Given the description of an element on the screen output the (x, y) to click on. 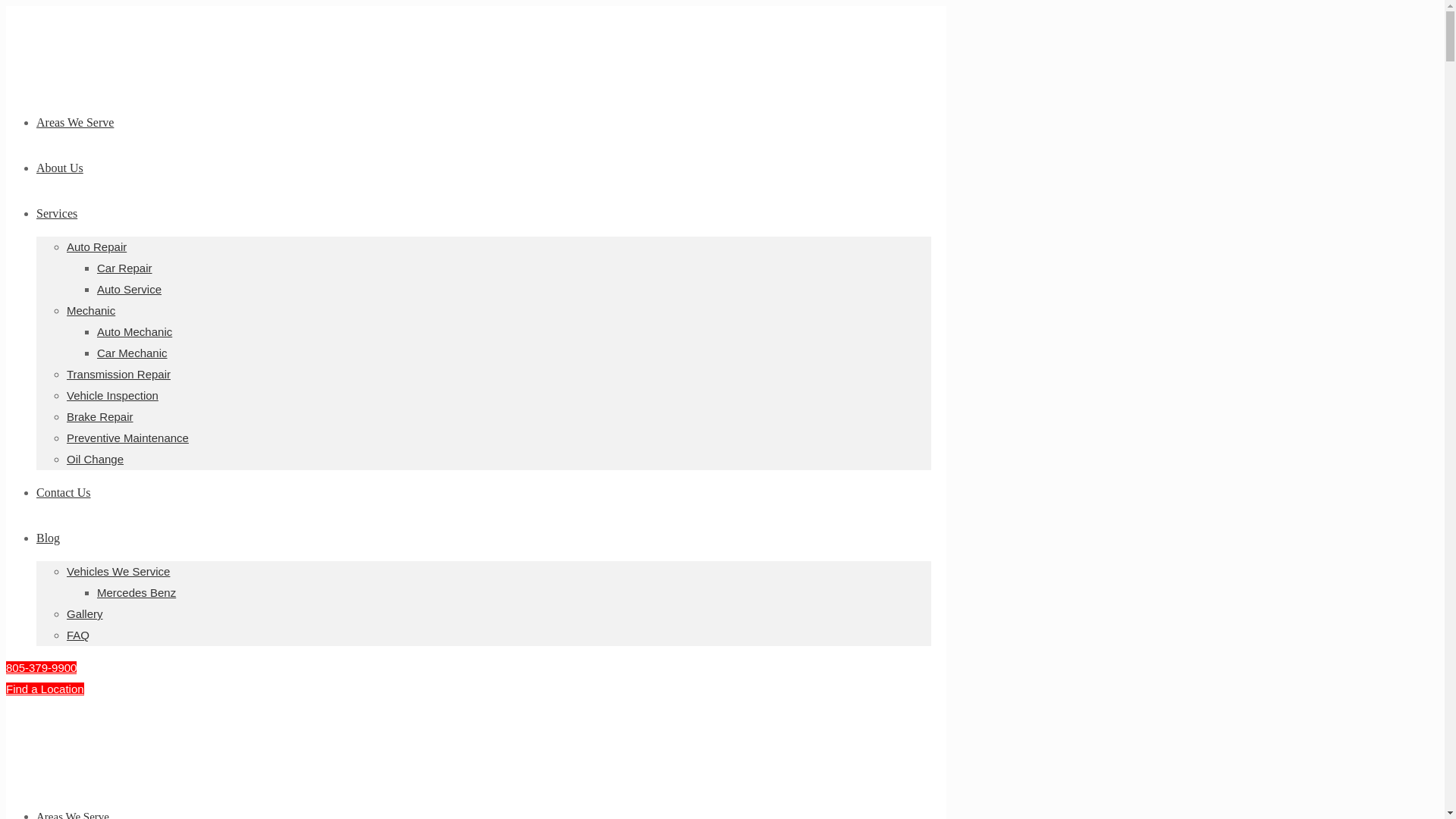
About Us (59, 167)
Auto Repair (96, 246)
Preventive Maintenance (127, 437)
Auto Mechanic (134, 331)
FAQ (77, 634)
Brake Repair (99, 416)
Mercedes Benz (136, 592)
Car Repair (124, 267)
Contact Us (63, 492)
Services (56, 213)
